Given the description of an element on the screen output the (x, y) to click on. 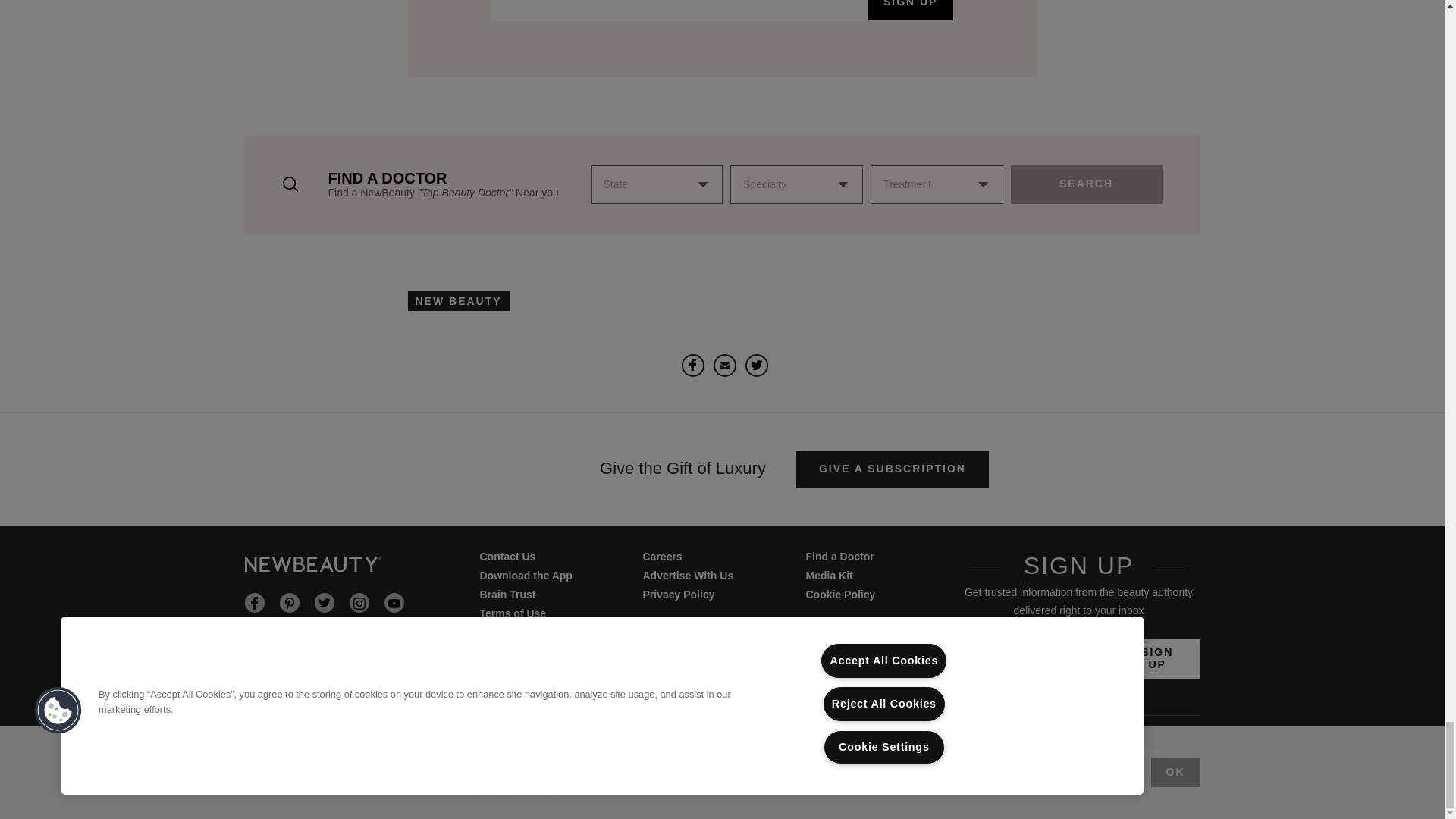
Sign Up (1157, 658)
Sign Up (910, 10)
